Given the description of an element on the screen output the (x, y) to click on. 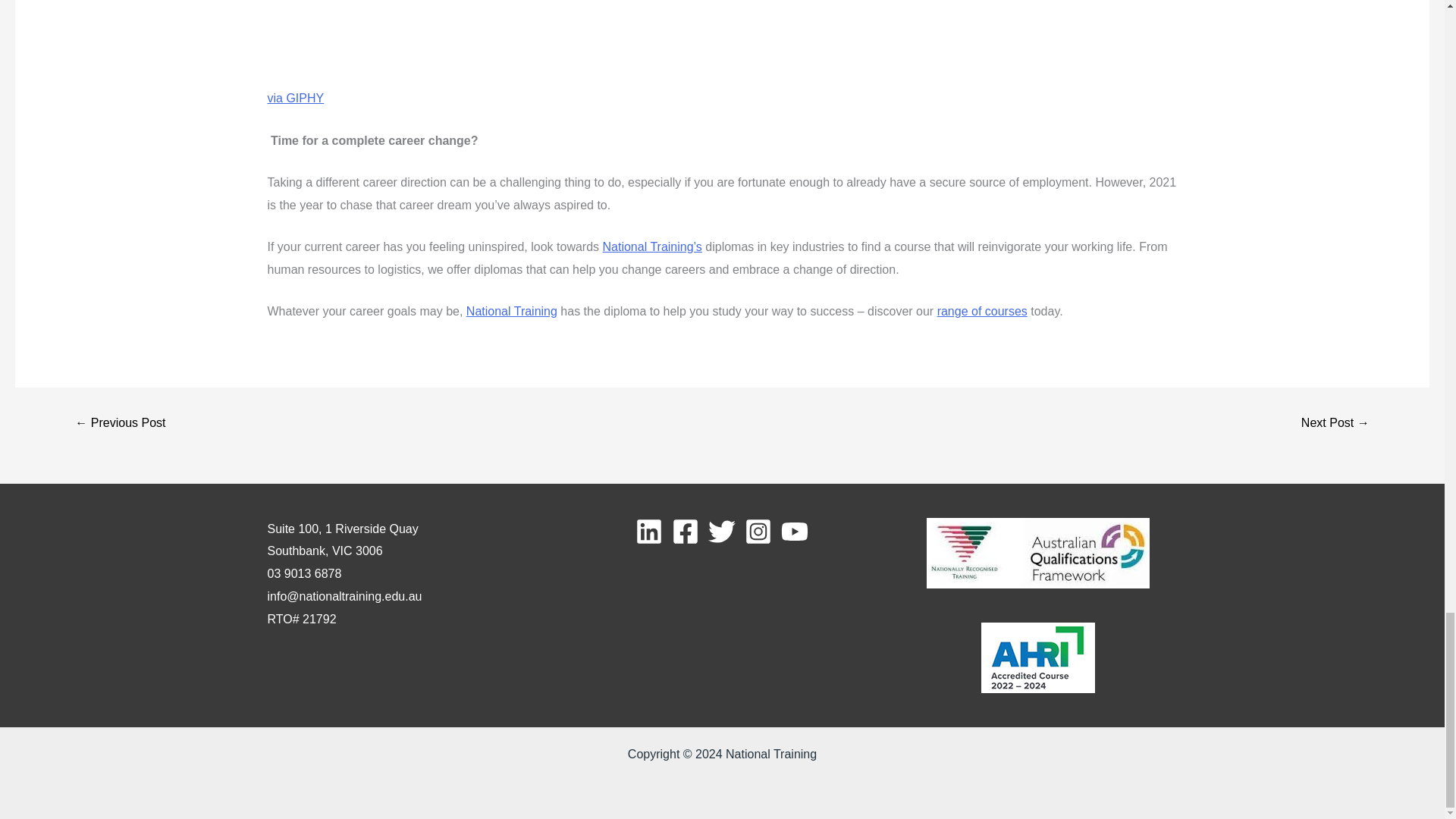
How To Balance Work With Study (119, 422)
See Out Summer With These Study Specials (1334, 422)
